Given the description of an element on the screen output the (x, y) to click on. 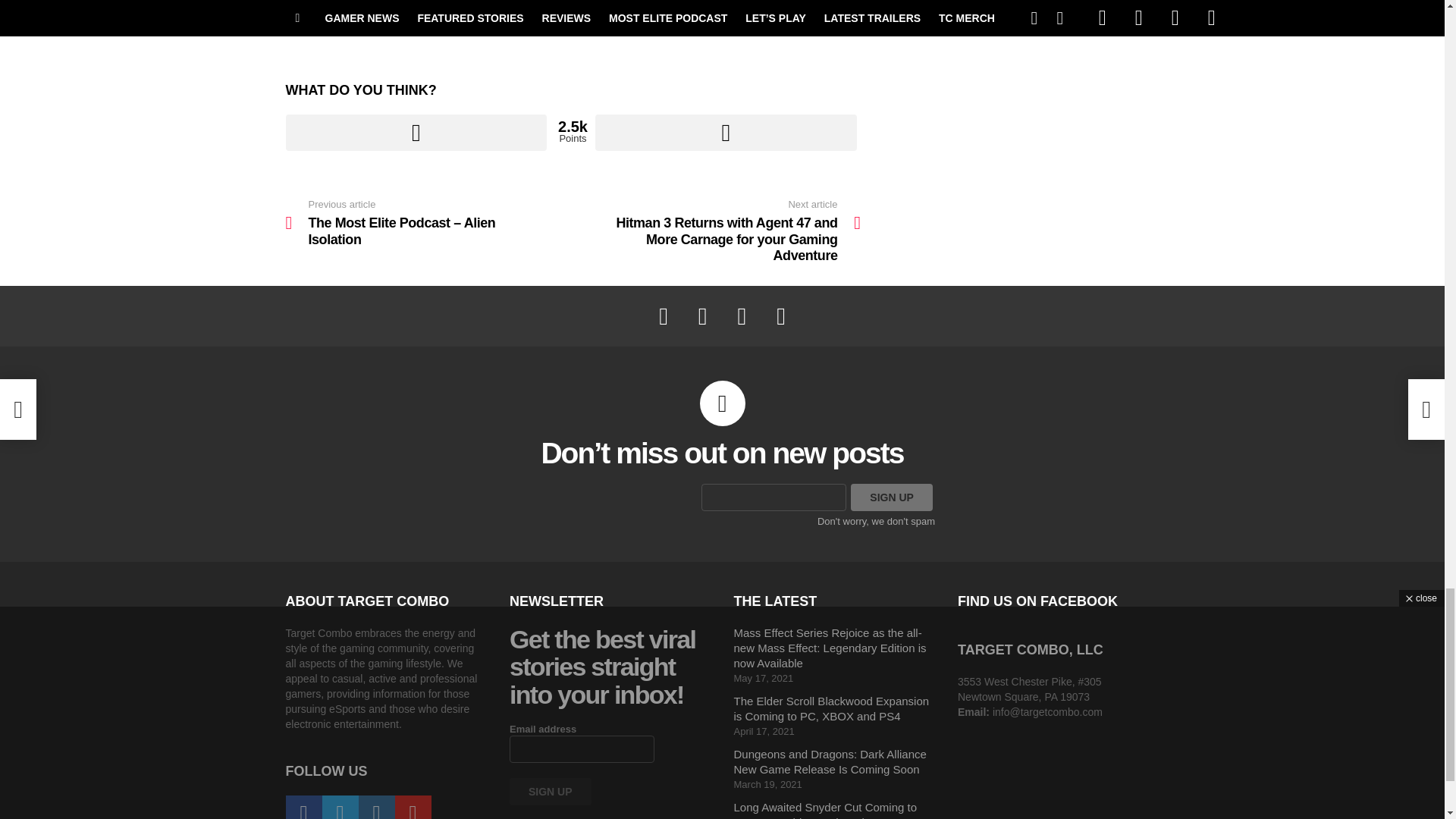
Downvote (726, 132)
Upvote (416, 132)
Downvote (323, 12)
Upvote (726, 132)
Sign up (416, 132)
Sign up (737, 12)
